Given the description of an element on the screen output the (x, y) to click on. 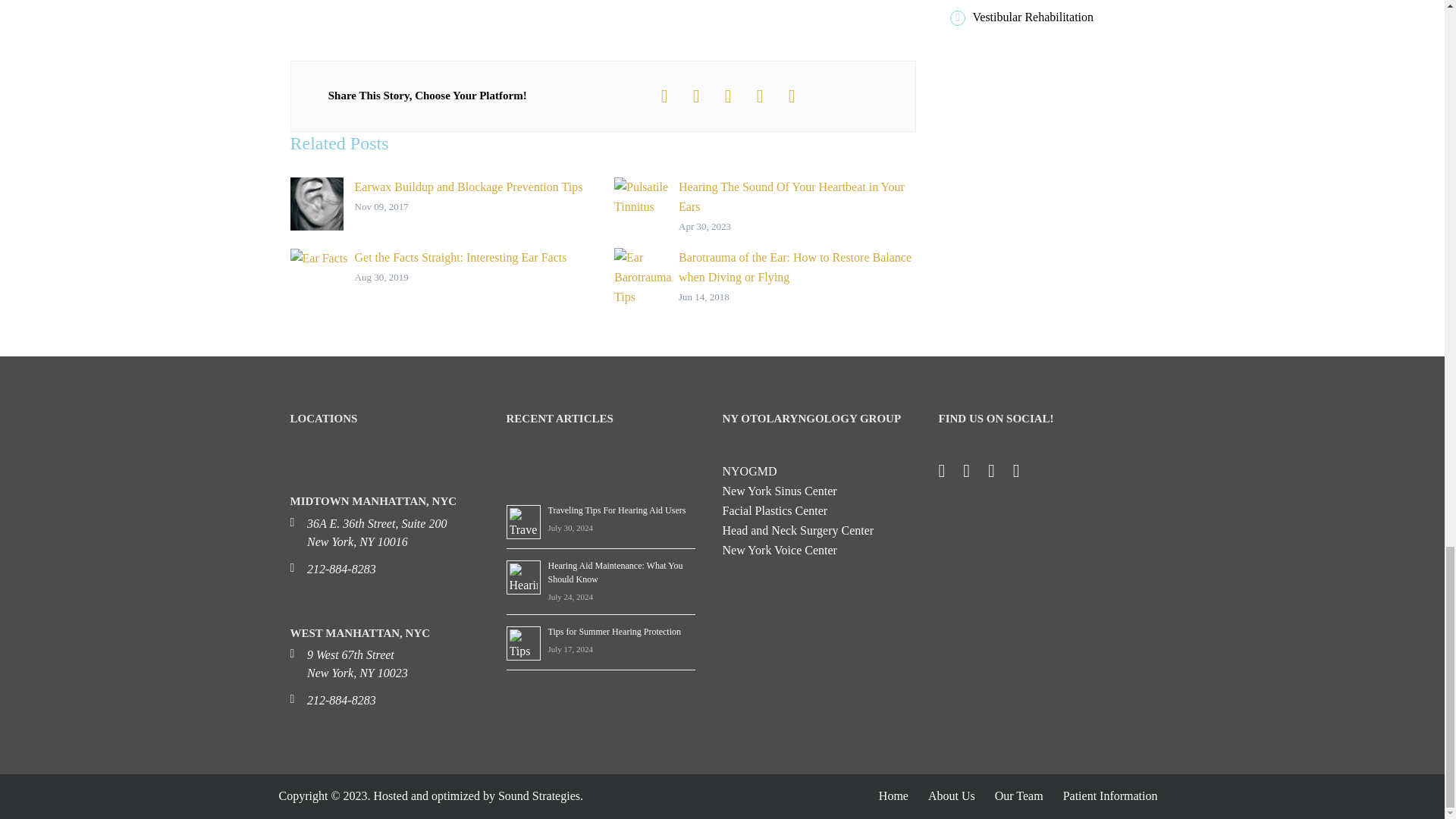
Facebook (949, 472)
Hearing The Sound Of Your Heartbeat in Your Ears (764, 206)
Youtube (1024, 472)
Linkedin (999, 472)
Twitter (973, 472)
Get the Facts Straight: Interesting Ear Facts (440, 267)
Earwax Buildup and Blockage Prevention Tips (440, 203)
